Given the description of an element on the screen output the (x, y) to click on. 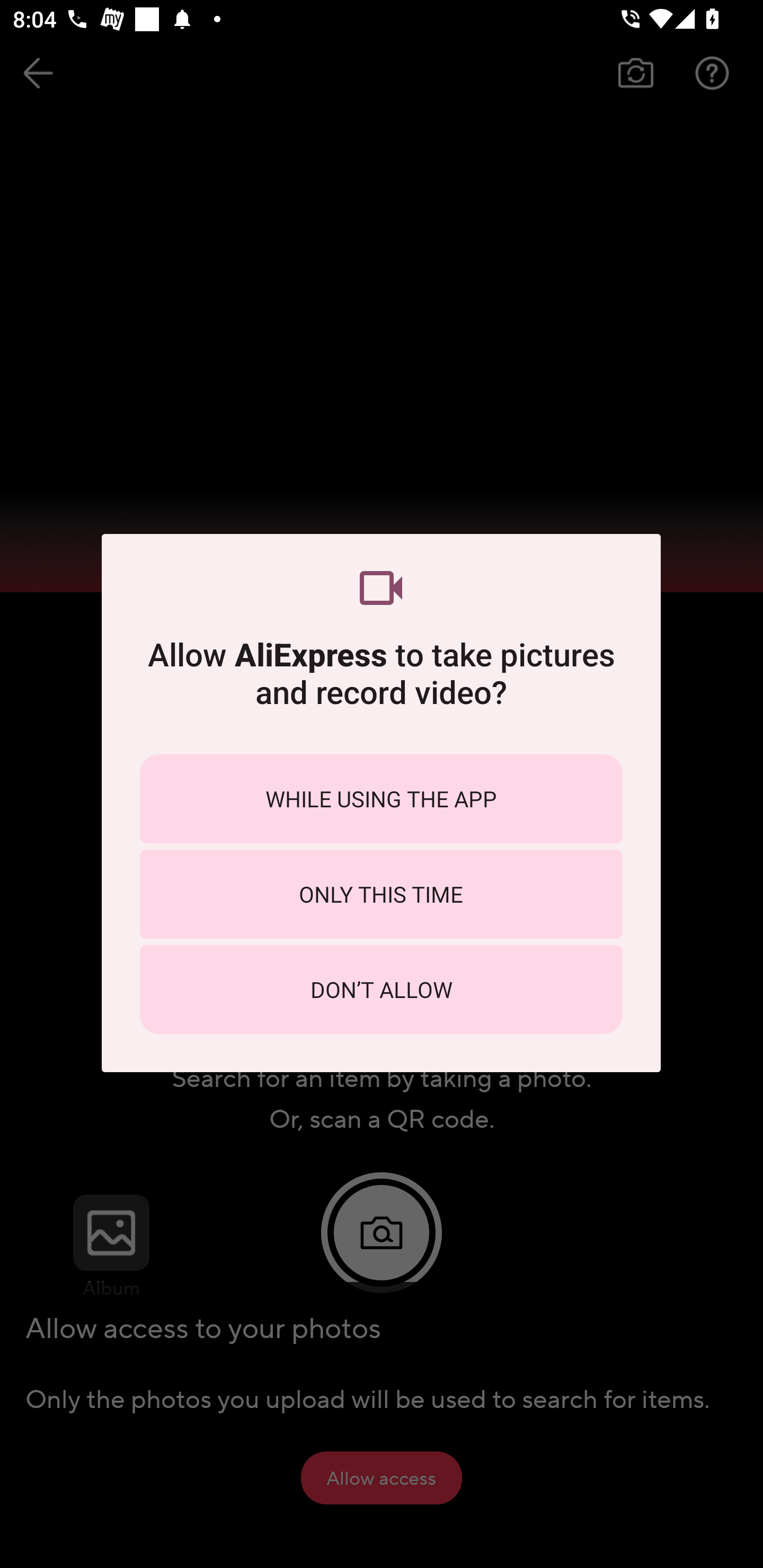
WHILE USING THE APP (380, 798)
ONLY THIS TIME (380, 894)
DON’T ALLOW (380, 989)
